Given the description of an element on the screen output the (x, y) to click on. 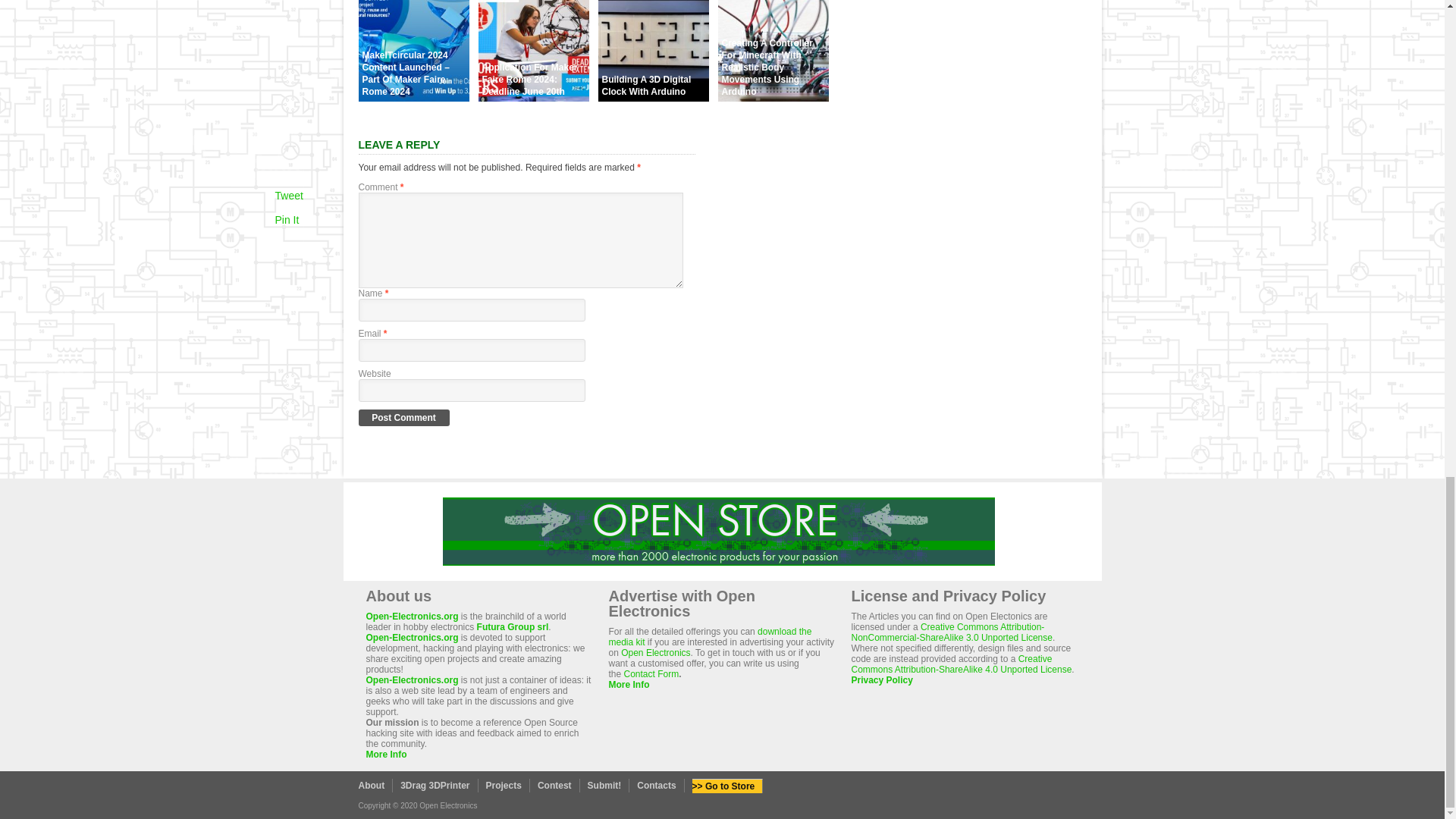
Building a 3D Digital Clock with Arduino (651, 97)
Application For Maker Faire Rome 2024: Deadline June 20th (532, 97)
Post Comment (403, 417)
